Given the description of an element on the screen output the (x, y) to click on. 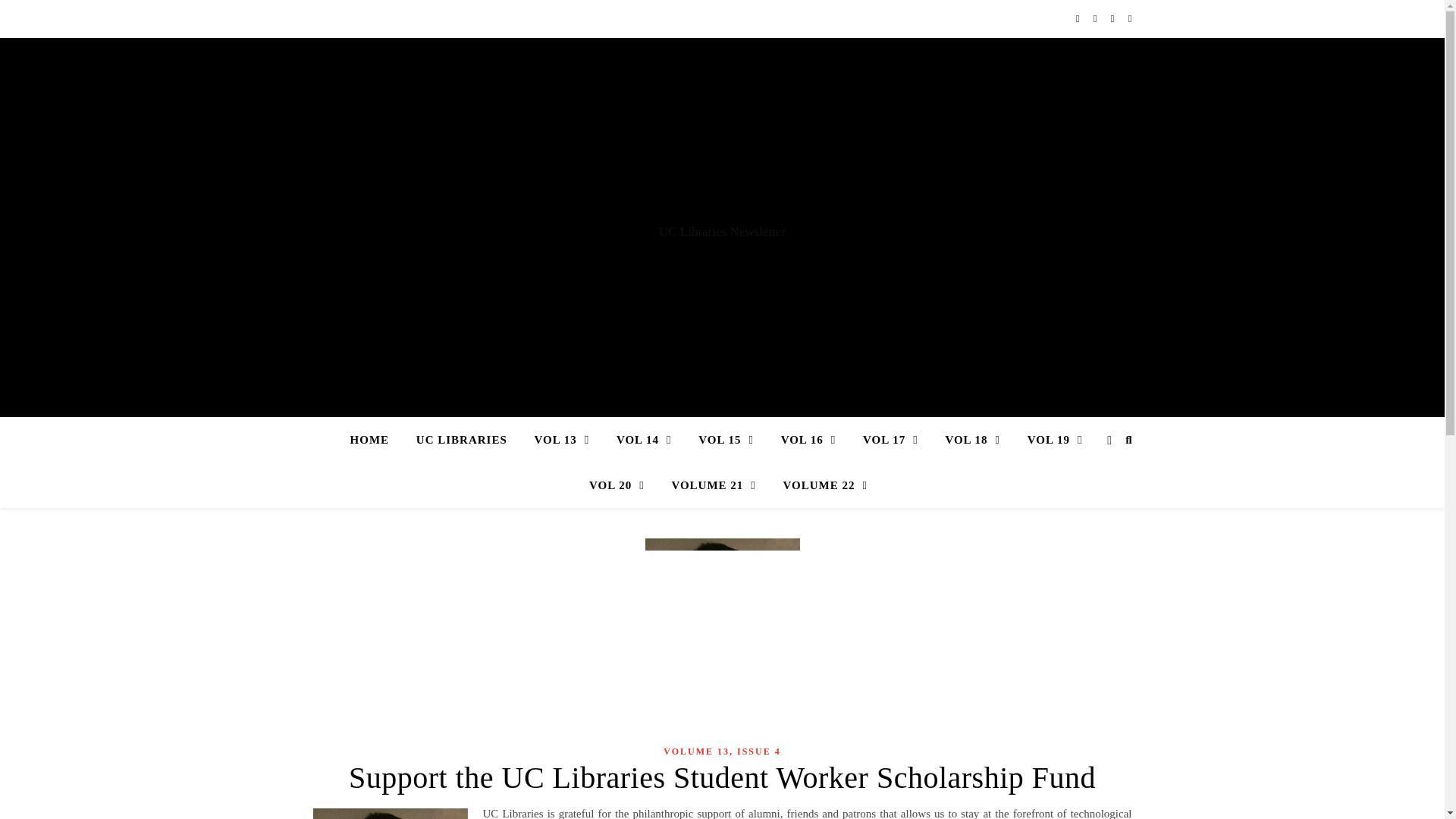
VOL 15 (725, 439)
VOL 16 (808, 439)
VOL 19 (1054, 439)
VOL 20 (616, 484)
VOL 17 (890, 439)
VOL 13 (562, 439)
UC LIBRARIES (461, 439)
VOL 14 (644, 439)
HOME (375, 439)
VOL 18 (972, 439)
